Given the description of an element on the screen output the (x, y) to click on. 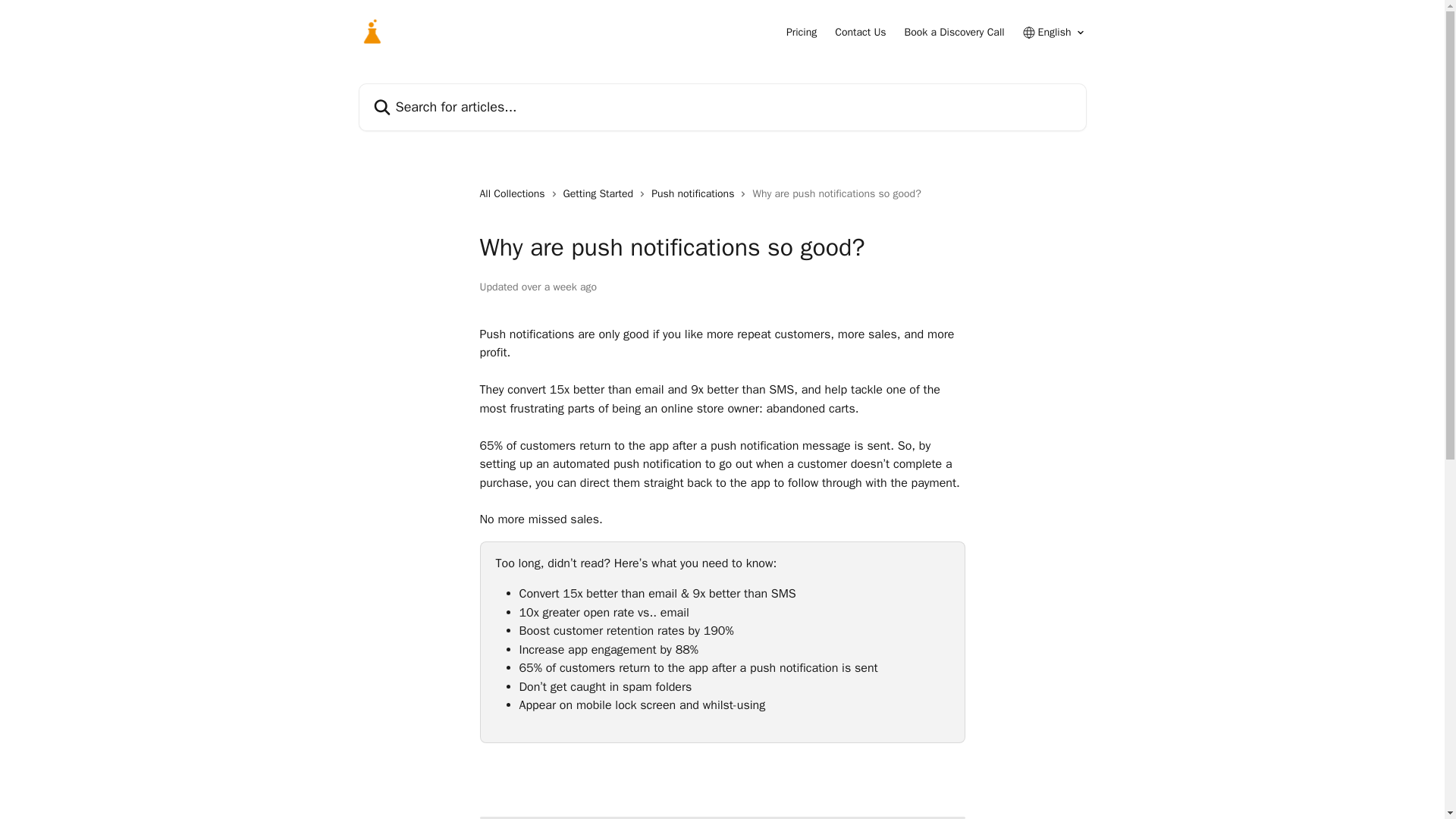
Getting Started (601, 193)
Pricing (801, 32)
Contact Us (859, 32)
Push notifications (694, 193)
All Collections (514, 193)
Book a Discovery Call (954, 32)
